Given the description of an element on the screen output the (x, y) to click on. 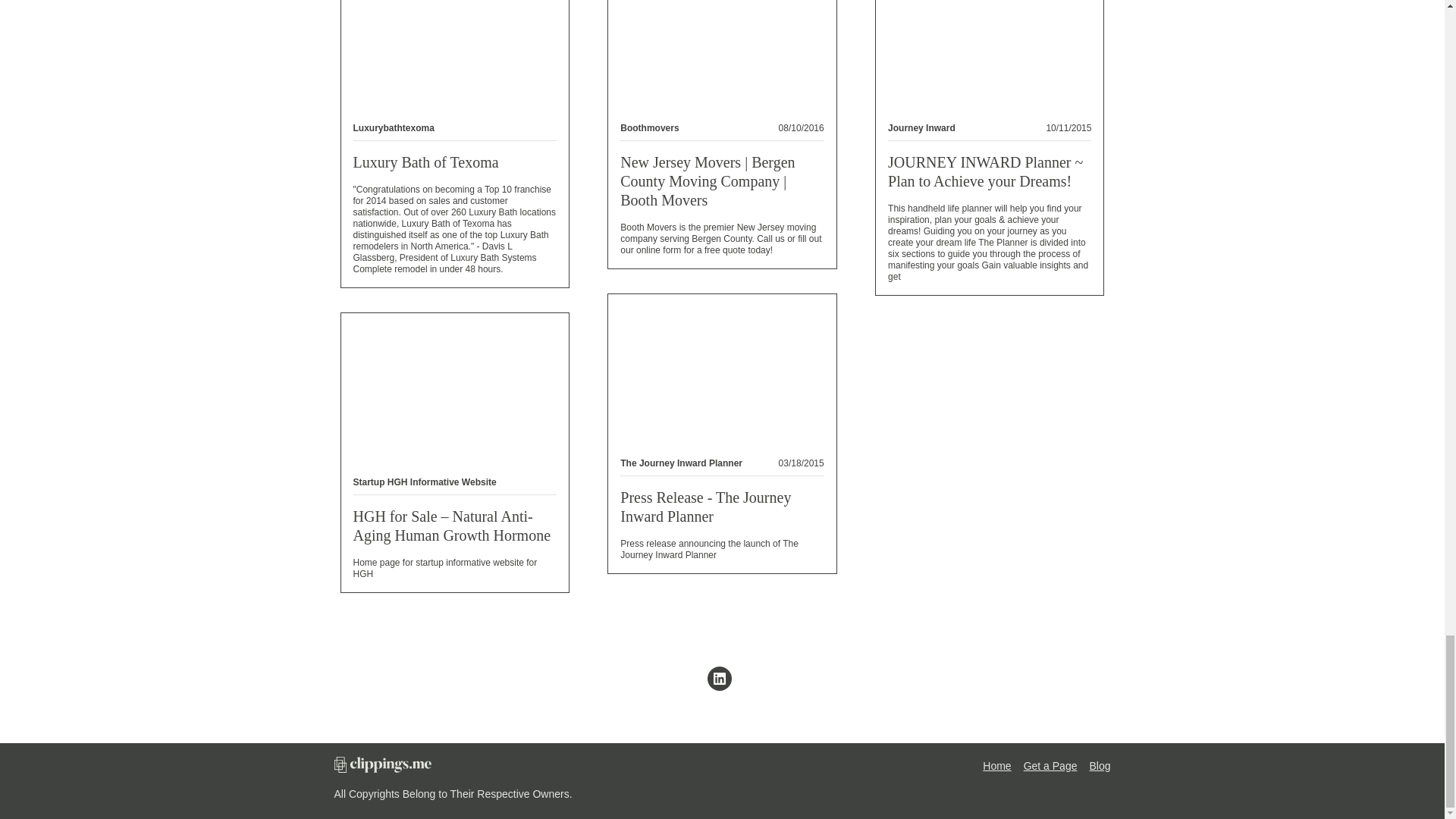
Clippings.me (1050, 766)
Clippings.me (996, 766)
Luxury Bath of Texoma (426, 161)
Clippings.me (1099, 766)
Clippings.me Home (381, 768)
